Given the description of an element on the screen output the (x, y) to click on. 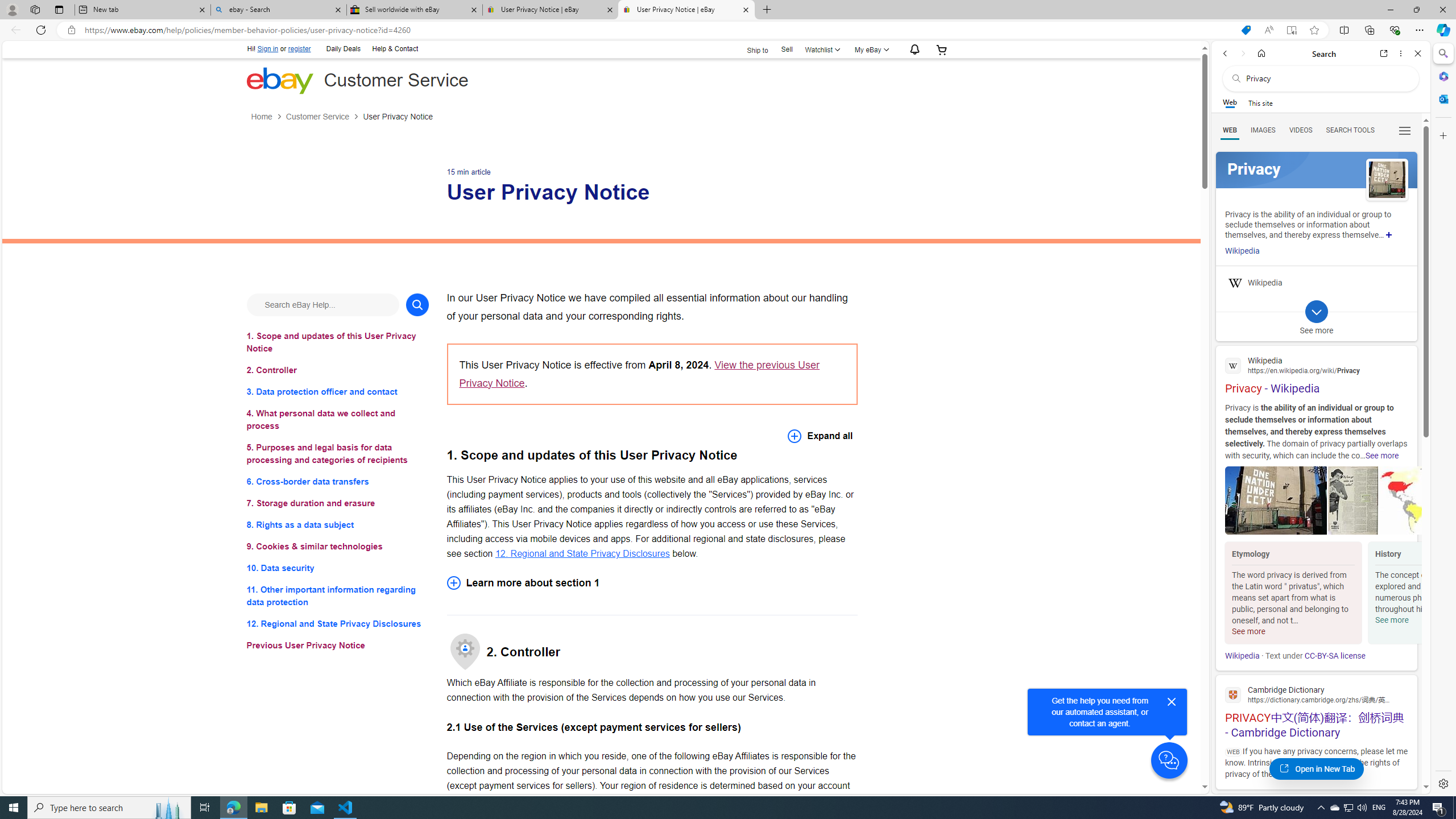
Sell (786, 49)
8. Rights as a data subject (337, 524)
Ship to (750, 48)
8. Rights as a data subject (337, 524)
